Given the description of an element on the screen output the (x, y) to click on. 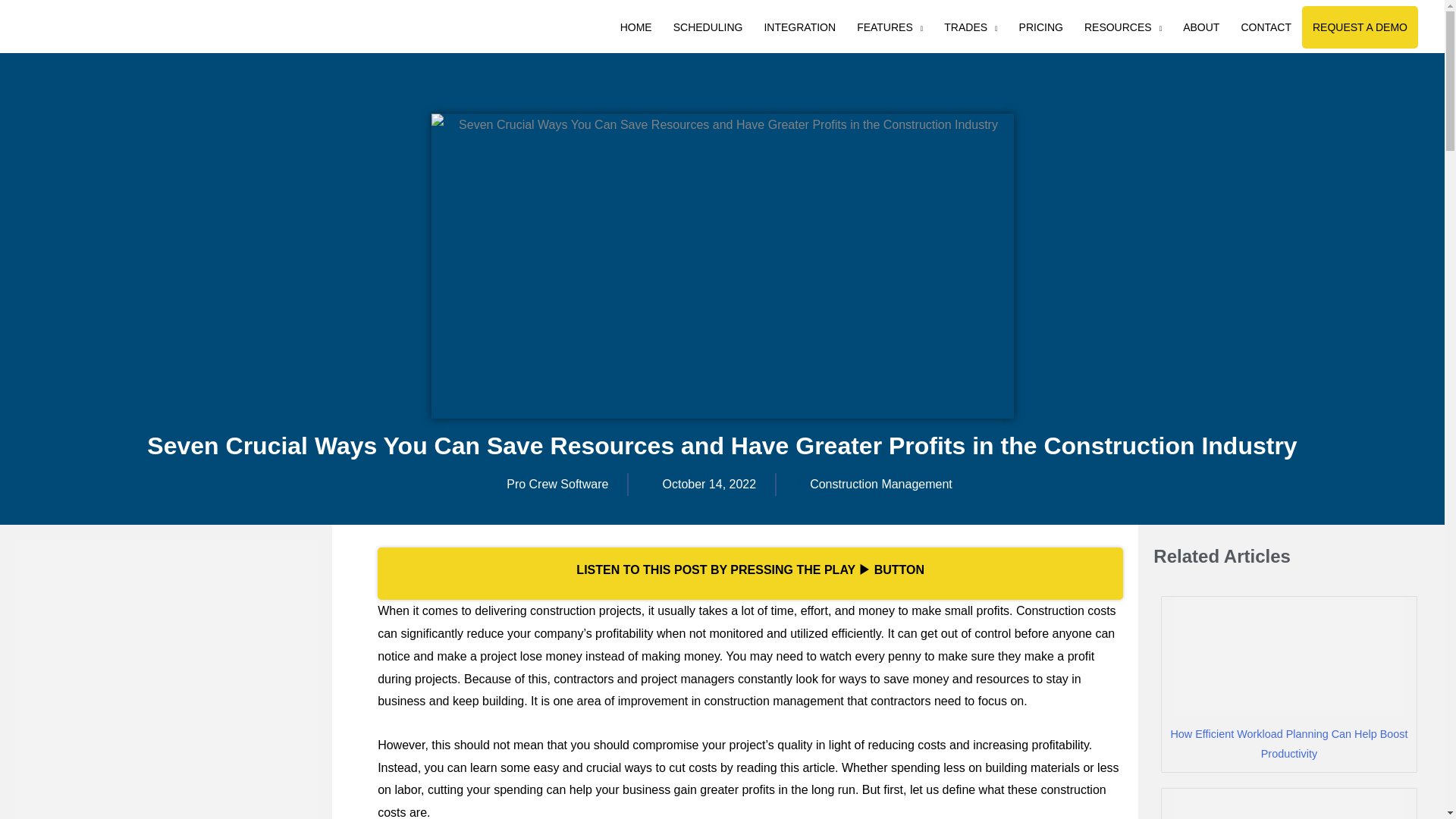
FEATURES (889, 26)
SCHEDULING (708, 26)
TRADES (970, 26)
HOME (636, 26)
INTEGRATION (798, 26)
RESOURCES (1123, 26)
PRICING (1041, 26)
